Given the description of an element on the screen output the (x, y) to click on. 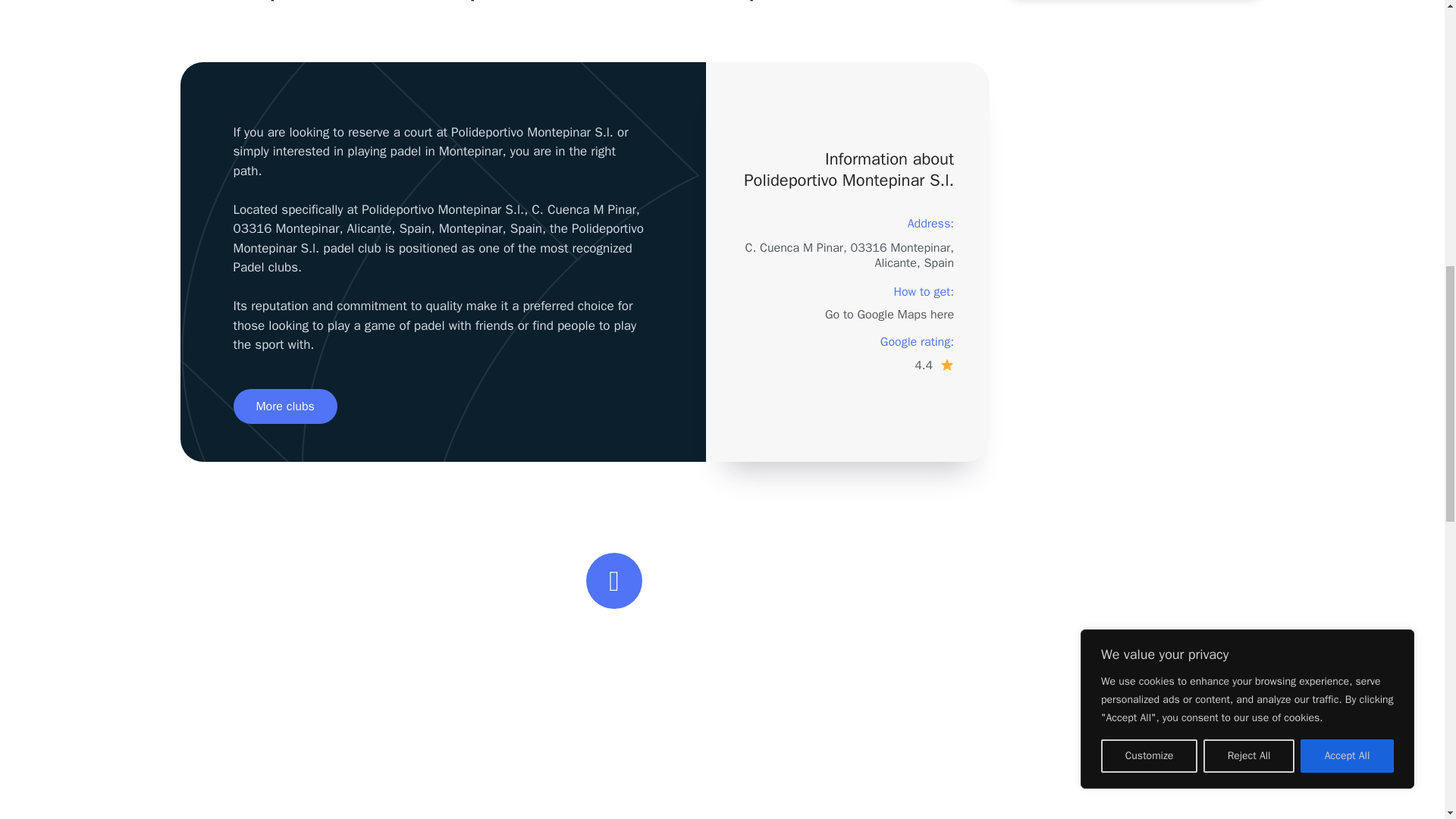
More clubs (284, 406)
Go to Google Maps here (889, 314)
